Given the description of an element on the screen output the (x, y) to click on. 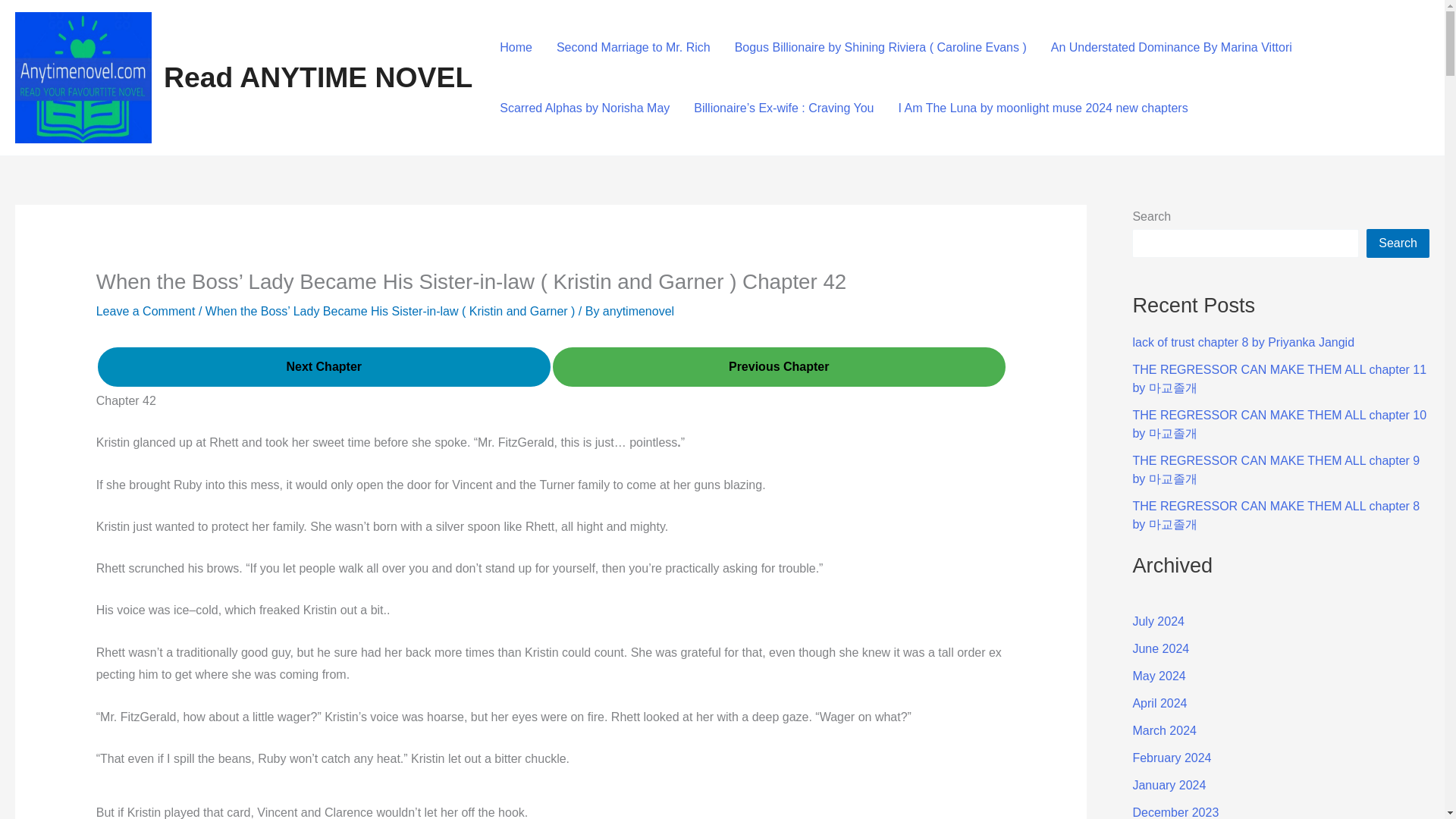
An Understated Dominance By Marina Vittori (1171, 46)
Read ANYTIME NOVEL (317, 77)
View all posts by anytimenovel (638, 310)
Scarred Alphas by Norisha May (584, 107)
I Am The Luna by moonlight muse 2024 new chapters (1042, 107)
Previous Chapter (779, 366)
Second Marriage to Mr. Rich (633, 46)
Leave a Comment (145, 310)
anytimenovel (638, 310)
Home (515, 46)
Next Chapter (323, 366)
Next Chapter (323, 366)
Previous Chapter (779, 366)
